Given the description of an element on the screen output the (x, y) to click on. 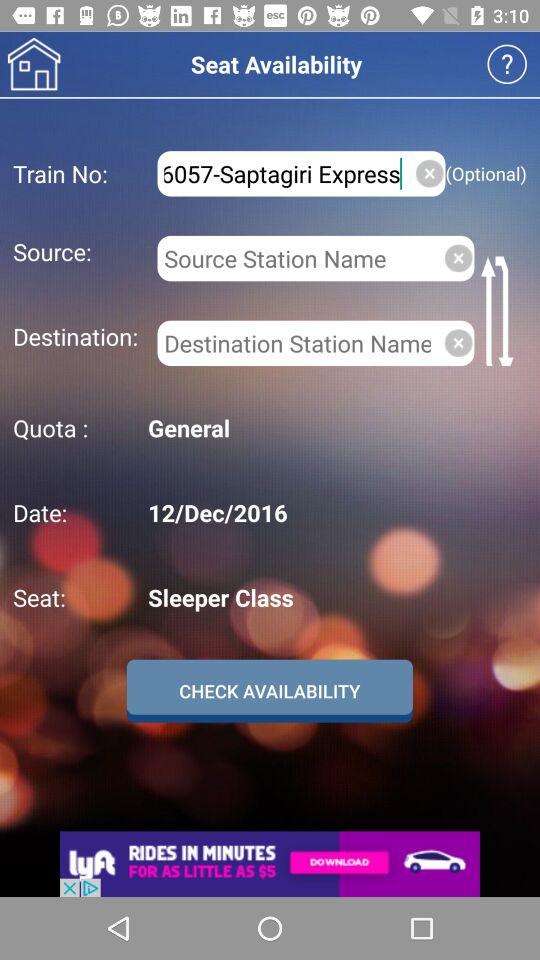
click on advertisement for lyft (270, 864)
